Given the description of an element on the screen output the (x, y) to click on. 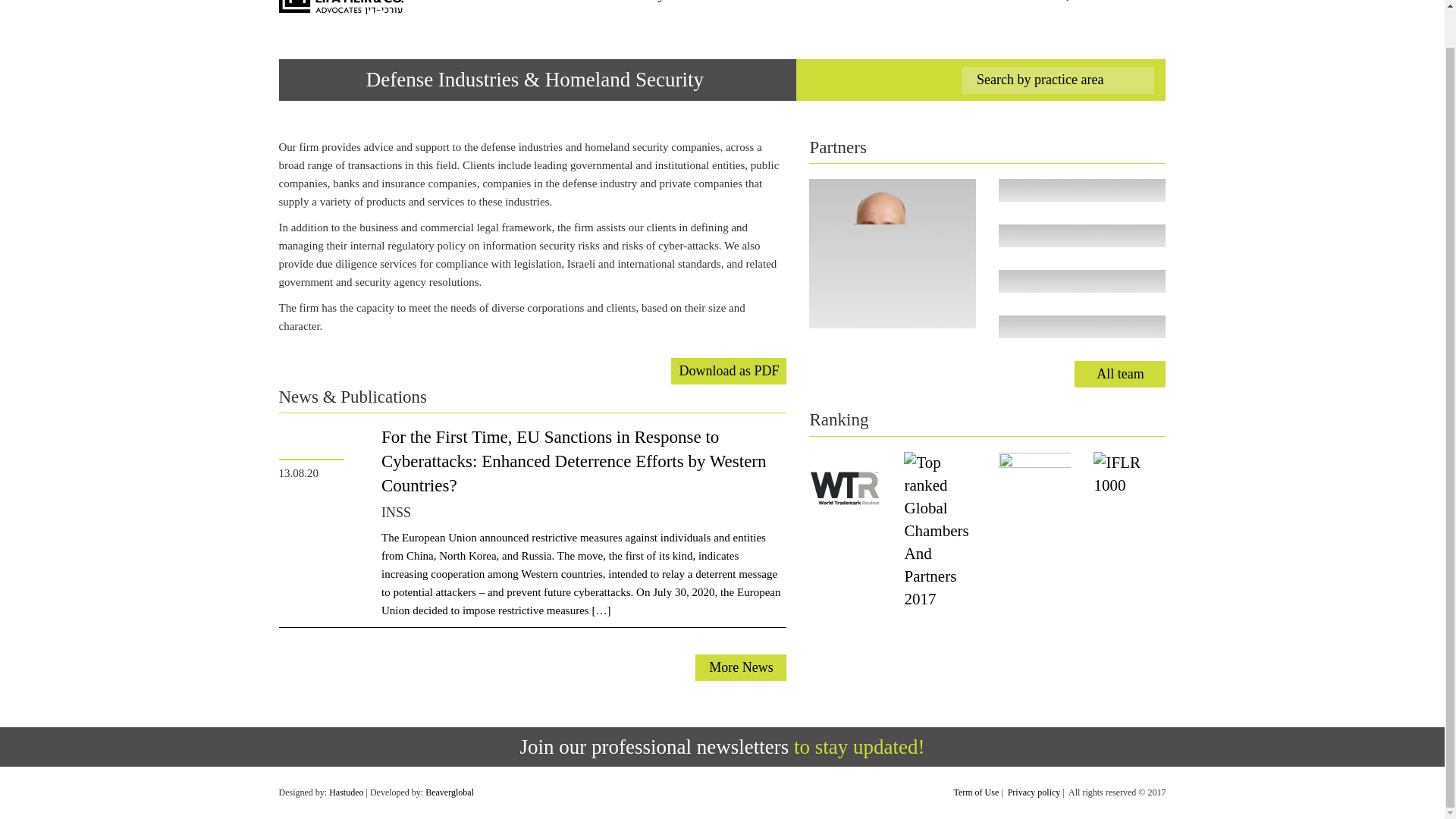
More News (740, 667)
About (590, 1)
Contact (941, 1)
Practices (705, 1)
Careers (890, 1)
Download as PDF (728, 370)
Attorneys (642, 1)
All team (1120, 374)
